Given the description of an element on the screen output the (x, y) to click on. 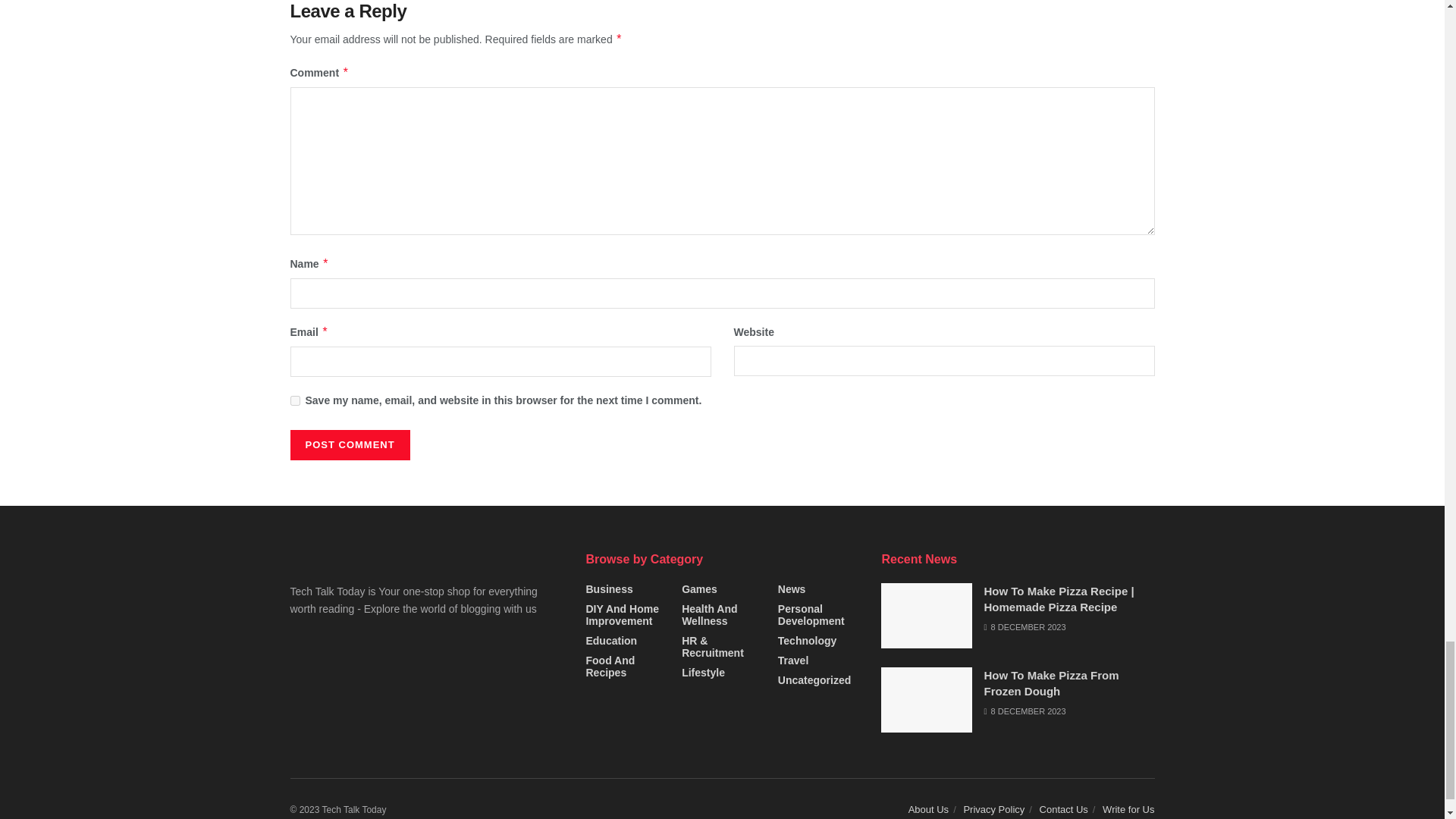
yes (294, 400)
Post Comment (349, 444)
